Given the description of an element on the screen output the (x, y) to click on. 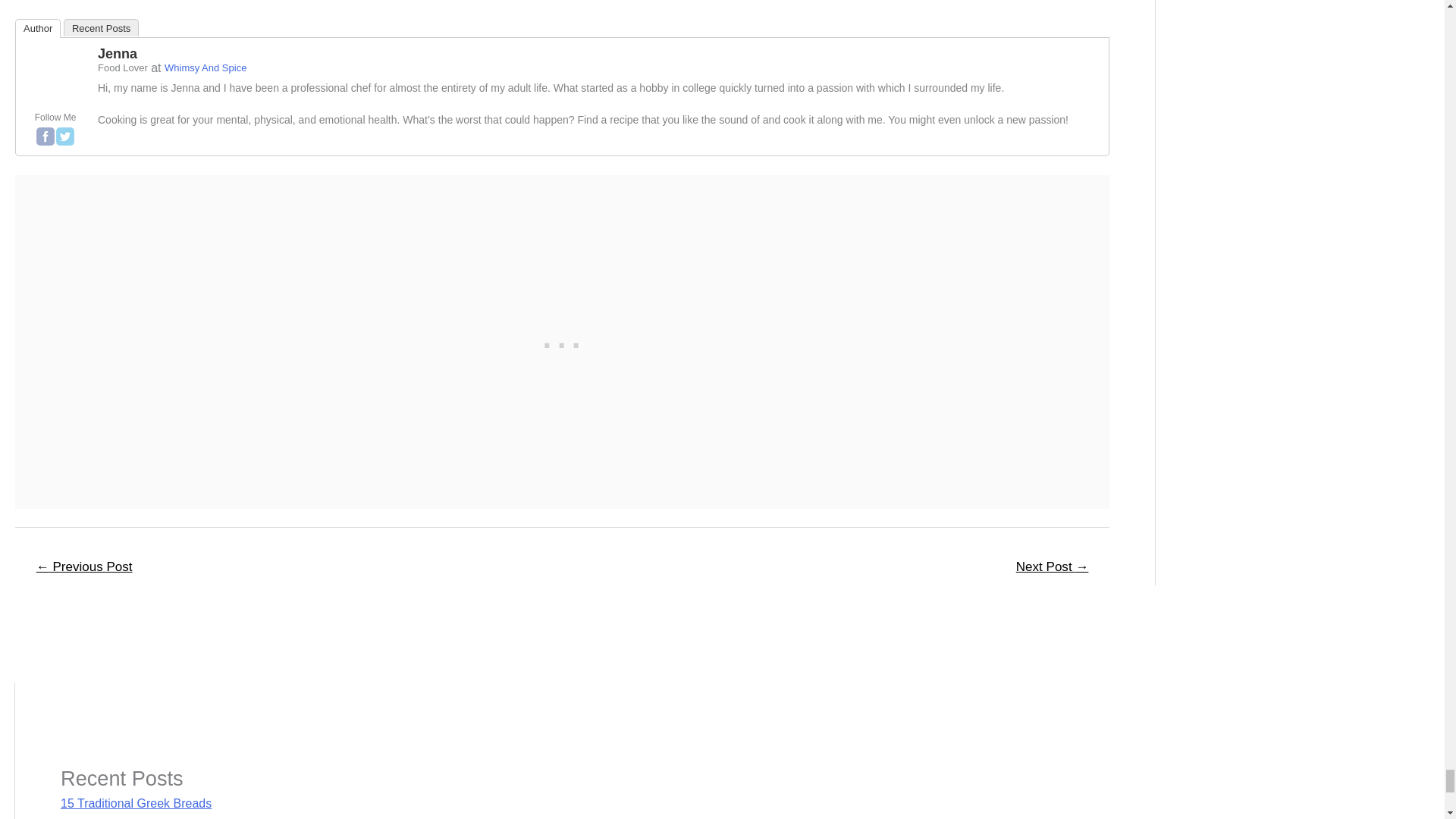
Jenna (54, 75)
Twitter (65, 136)
Facebook (45, 136)
